Given the description of an element on the screen output the (x, y) to click on. 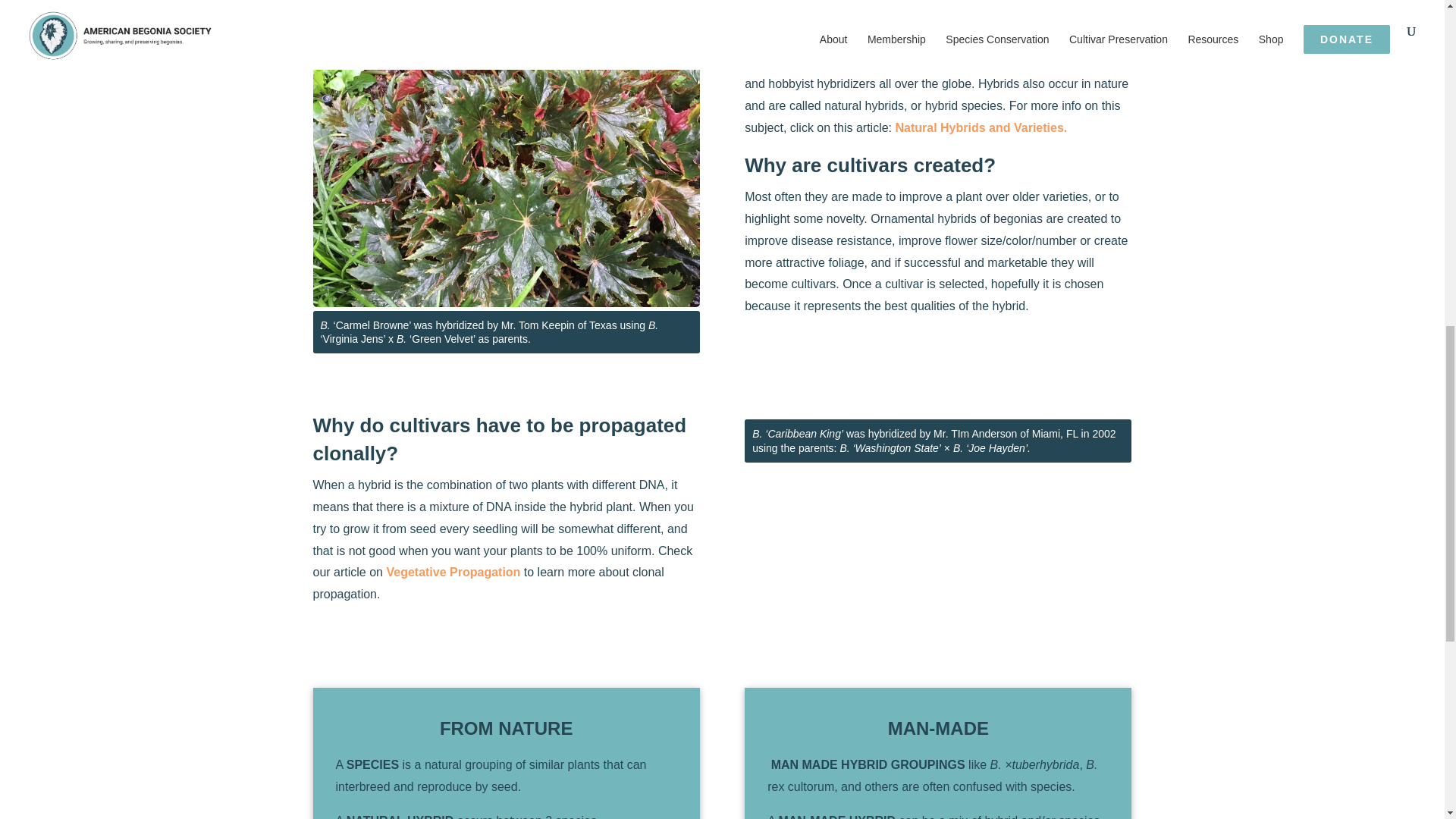
lml (505, 161)
